Given the description of an element on the screen output the (x, y) to click on. 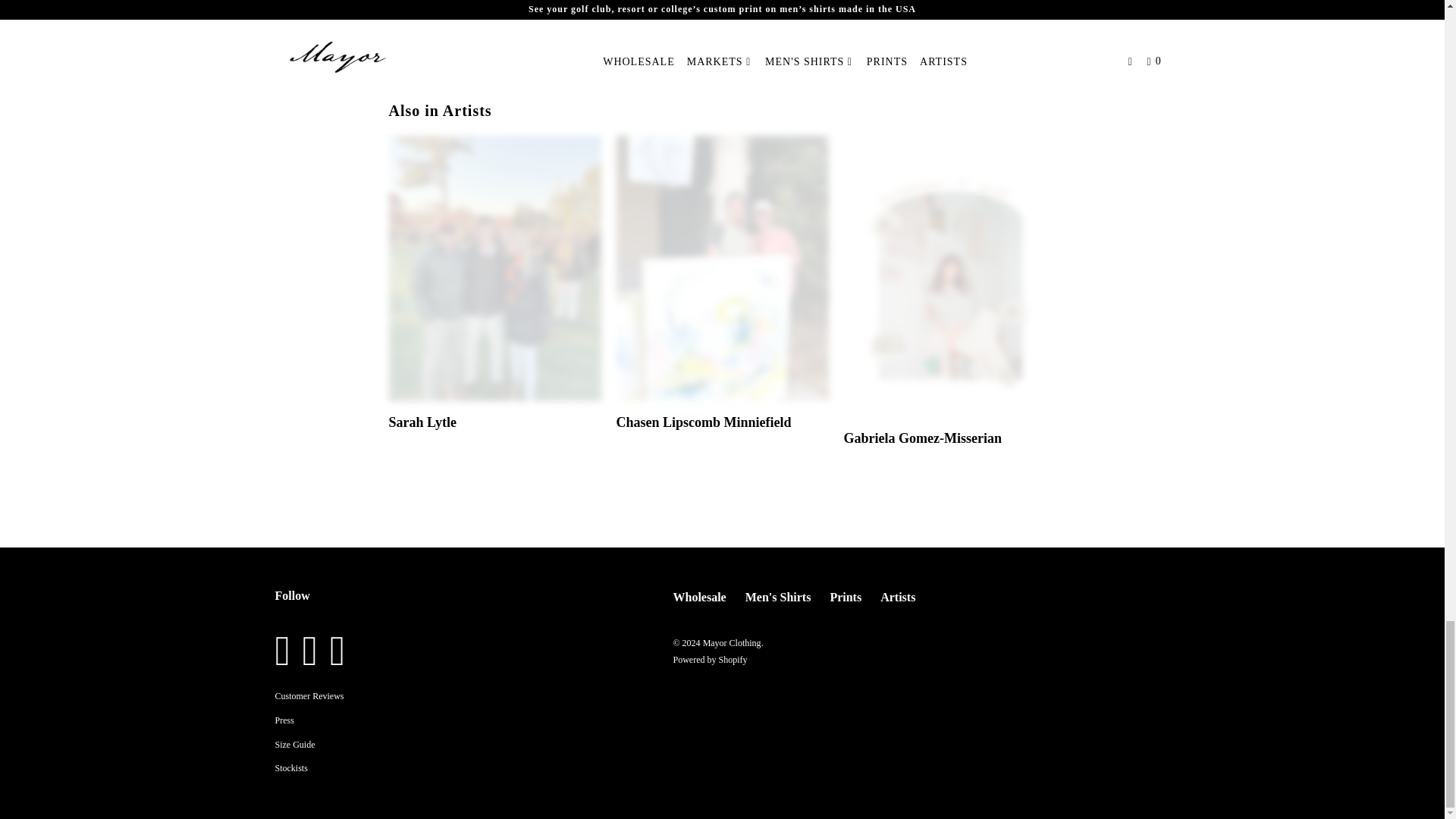
Chasen Lipscomb Minniefield (702, 421)
Gabriela Gomez-Misserian (922, 437)
Sarah Lytle (422, 421)
Mayor Clothing on LinkedIn (314, 650)
Chasen Lipscomb Minniefield (721, 268)
Gabriela Gomez-Misserian (949, 275)
Mayor Clothing (291, 767)
Press (284, 719)
Size Guide: All Mayor Clothing (294, 744)
Sarah Lytle (493, 268)
Email Mayor Clothing (341, 650)
Mayor Clothing on Instagram (286, 650)
Customer Reviews (309, 696)
Post comment (444, 40)
